Given the description of an element on the screen output the (x, y) to click on. 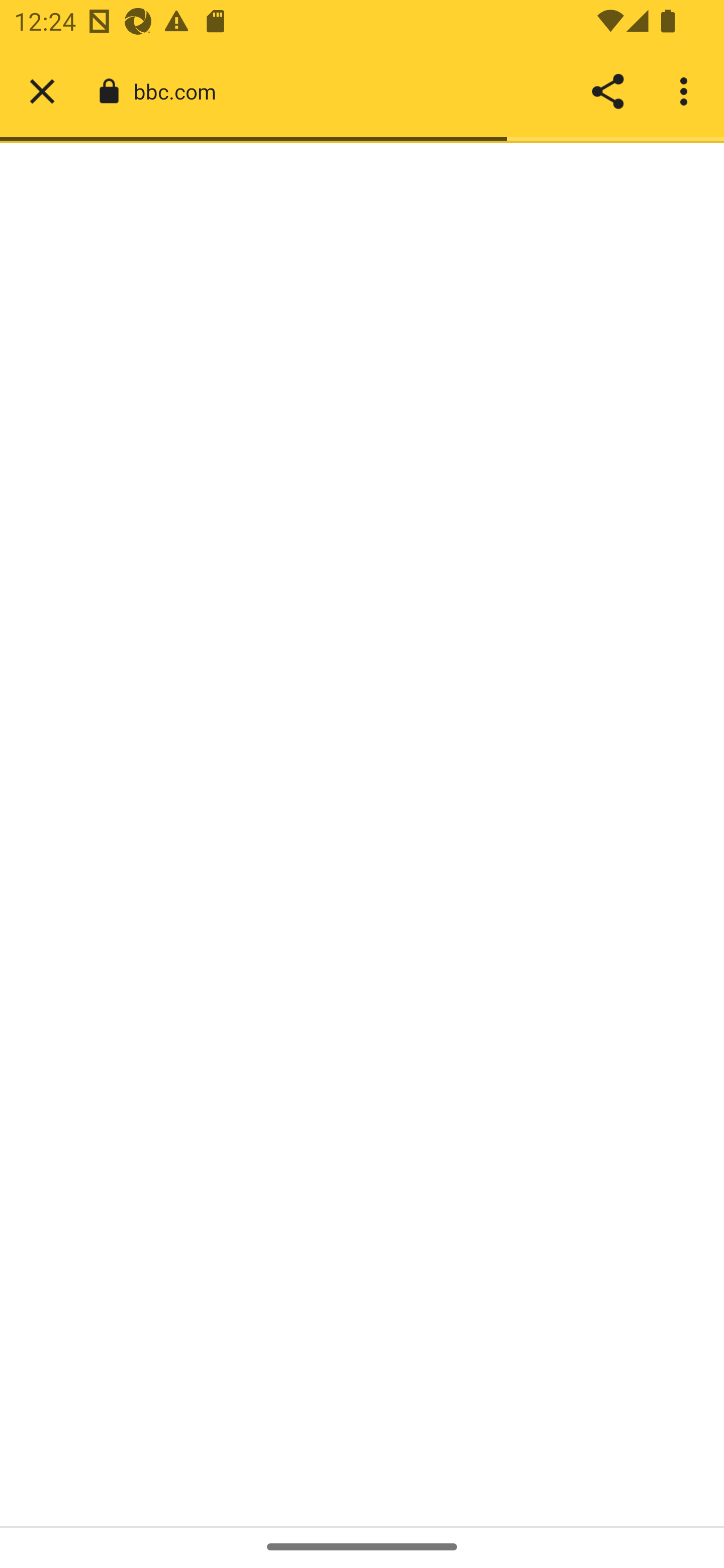
Close tab (42, 91)
Share (607, 91)
More options (687, 91)
Connection is secure (108, 91)
bbc.com (181, 90)
